Given the description of an element on the screen output the (x, y) to click on. 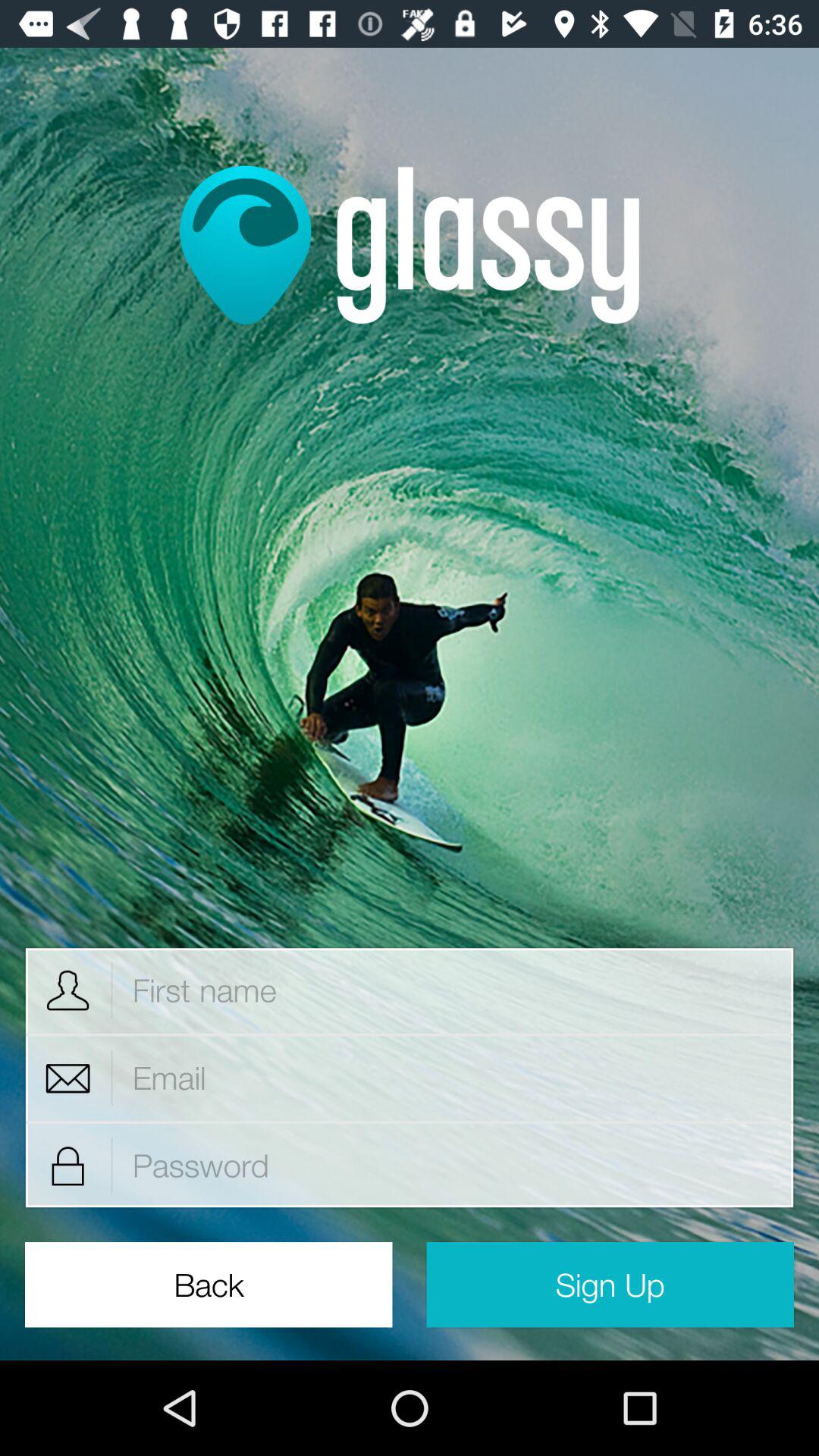
enter password (453, 1165)
